Given the description of an element on the screen output the (x, y) to click on. 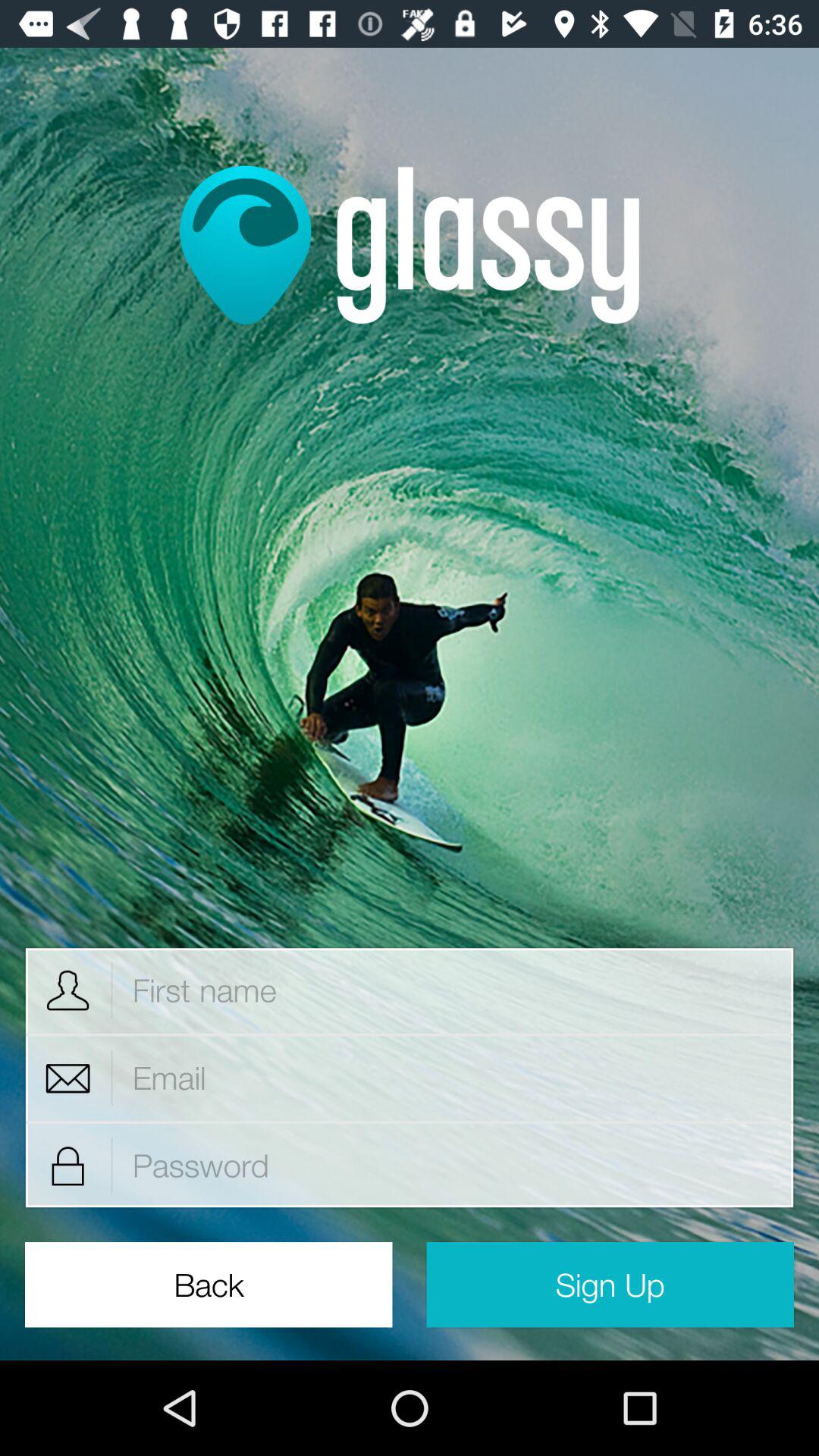
enter password (453, 1165)
